Given the description of an element on the screen output the (x, y) to click on. 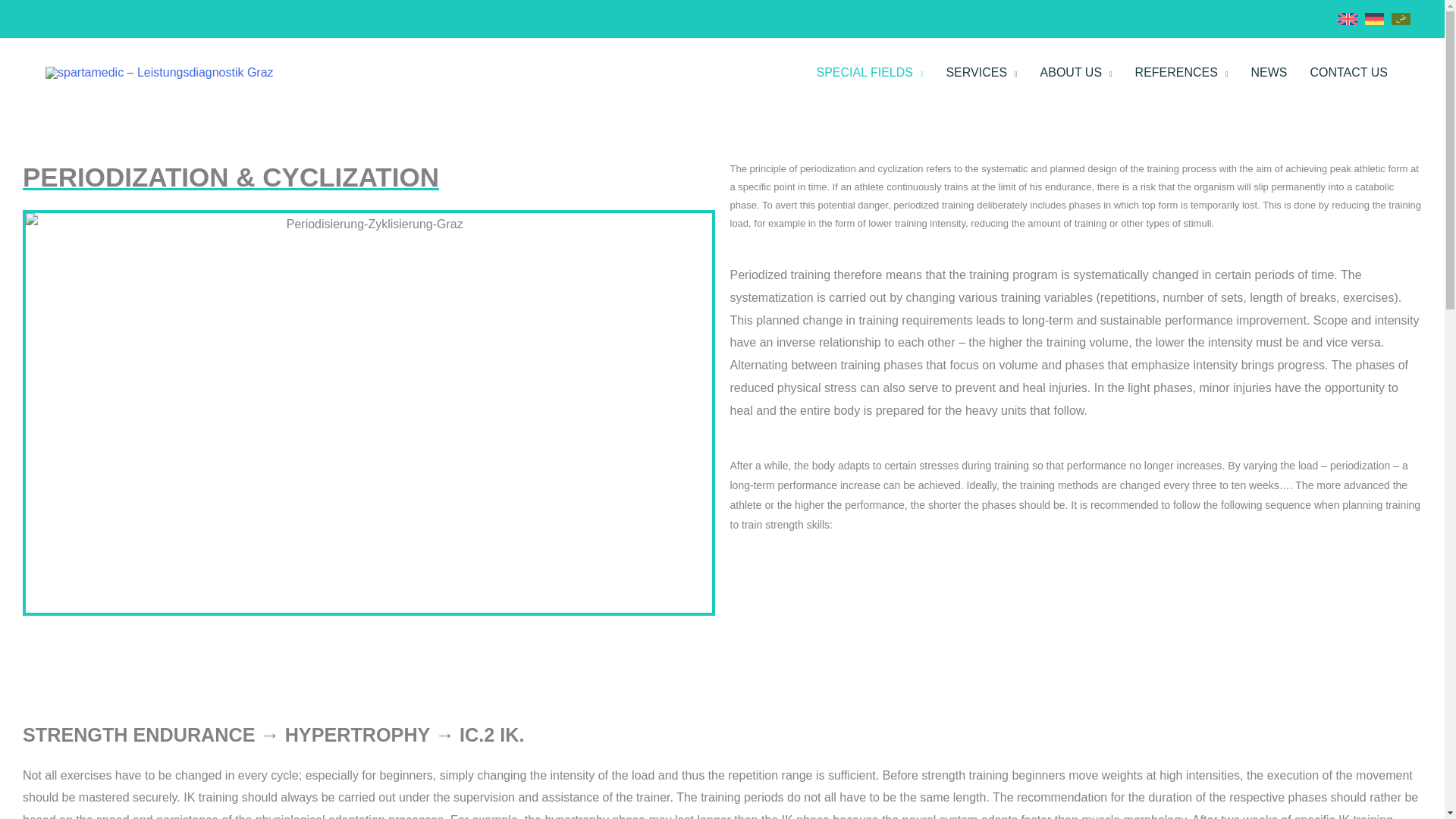
ABOUT US (1076, 72)
SPECIAL FIELDS (869, 72)
SERVICES (980, 72)
